Given the description of an element on the screen output the (x, y) to click on. 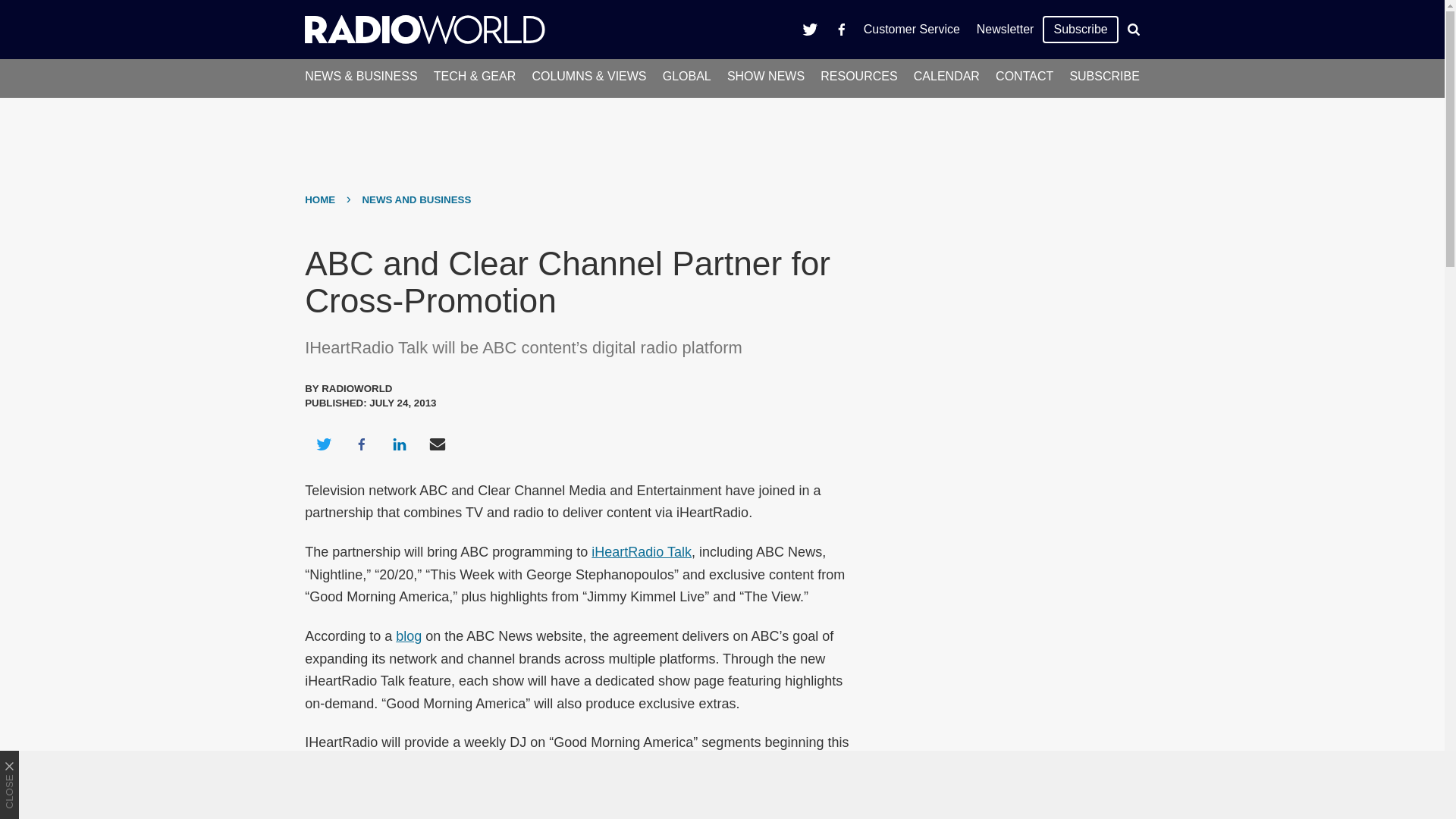
Share on Facebook (361, 444)
Share on LinkedIn (399, 444)
Customer Service (912, 29)
Share on Twitter (323, 444)
Share via Email (438, 444)
